Given the description of an element on the screen output the (x, y) to click on. 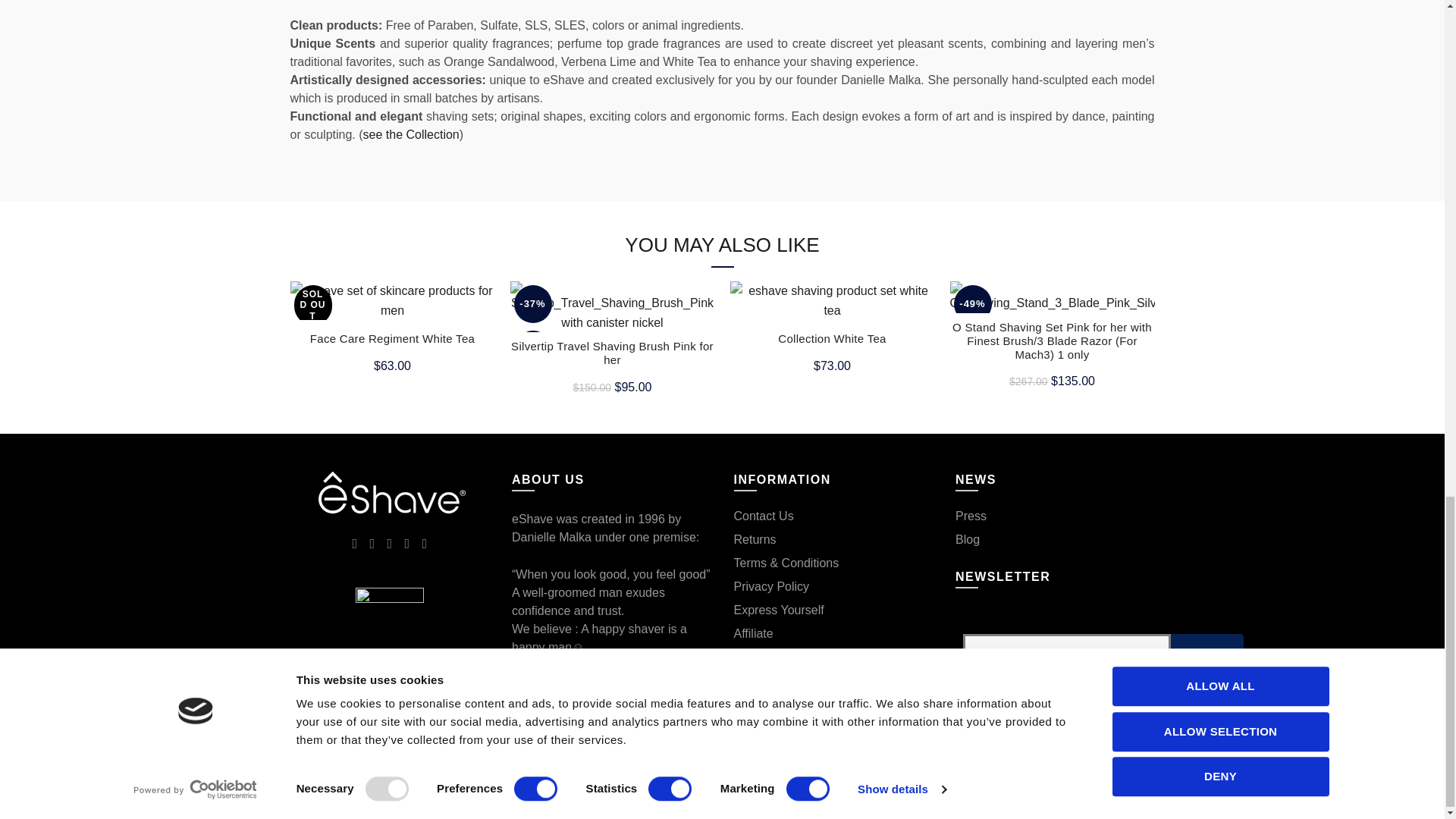
Basel and Co. (389, 492)
